Given the description of an element on the screen output the (x, y) to click on. 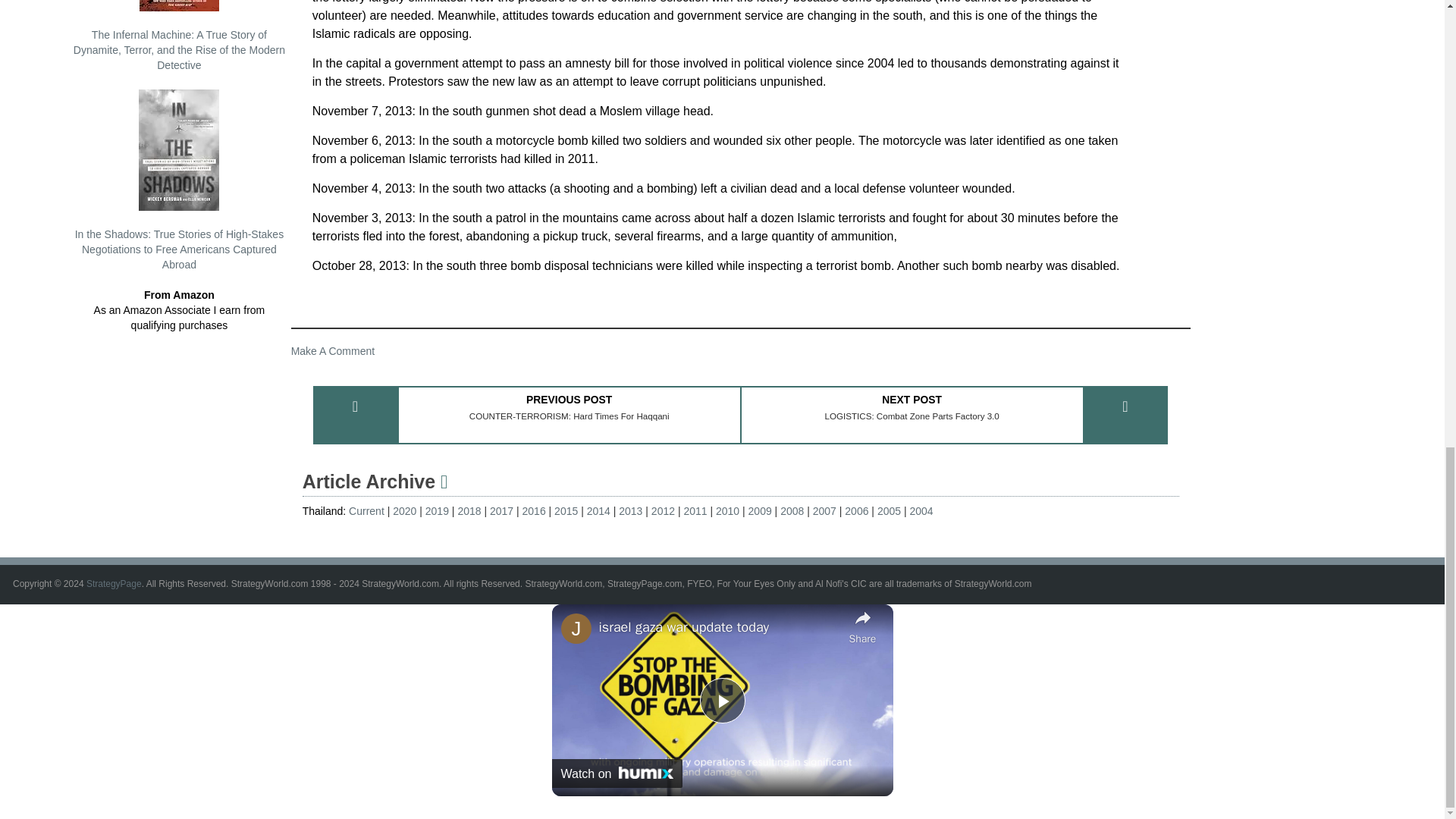
Play Video (721, 700)
